Given the description of an element on the screen output the (x, y) to click on. 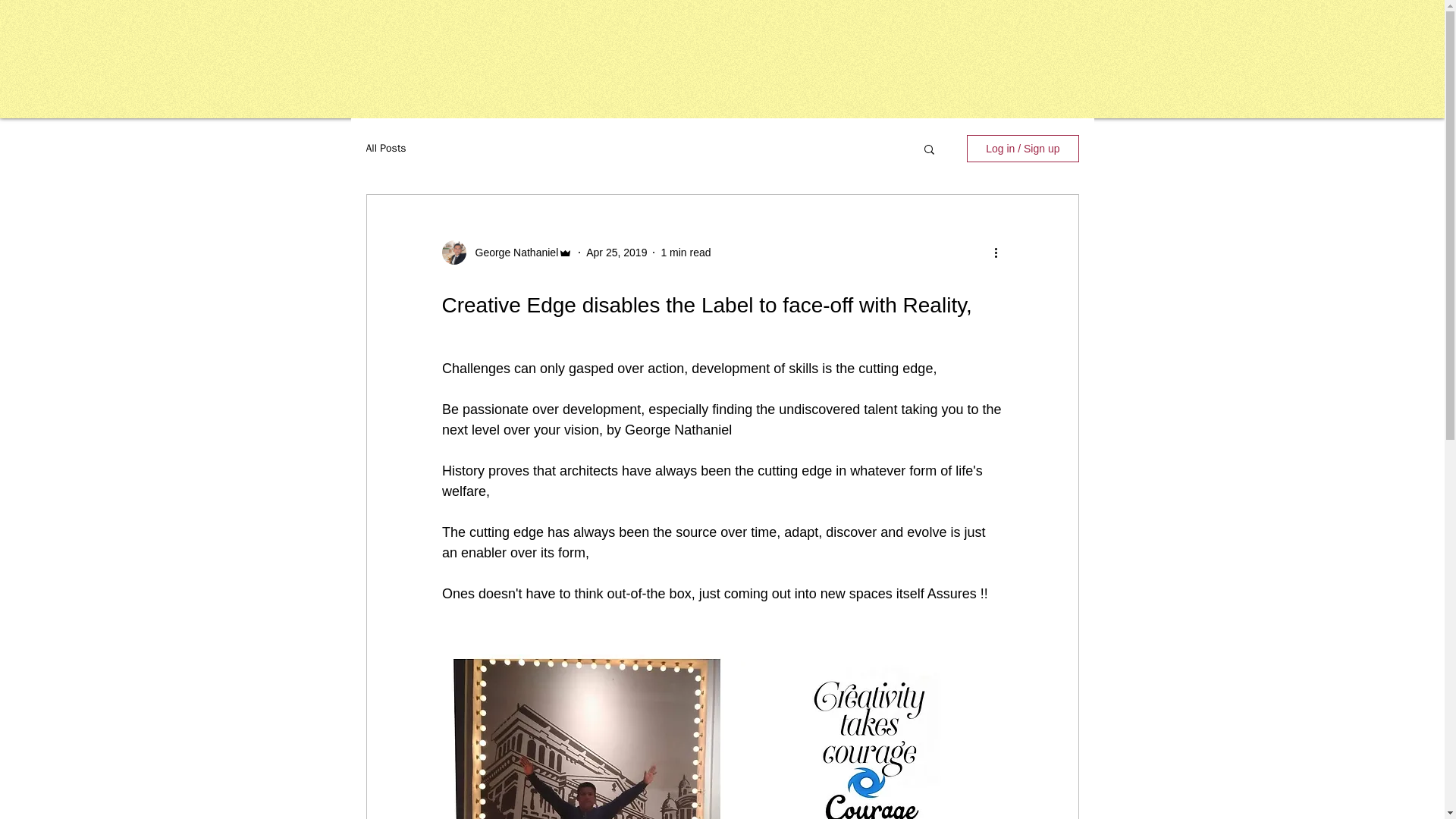
George Nathaniel (511, 252)
All Posts (385, 148)
Apr 25, 2019 (616, 251)
1 min read (685, 251)
